Given the description of an element on the screen output the (x, y) to click on. 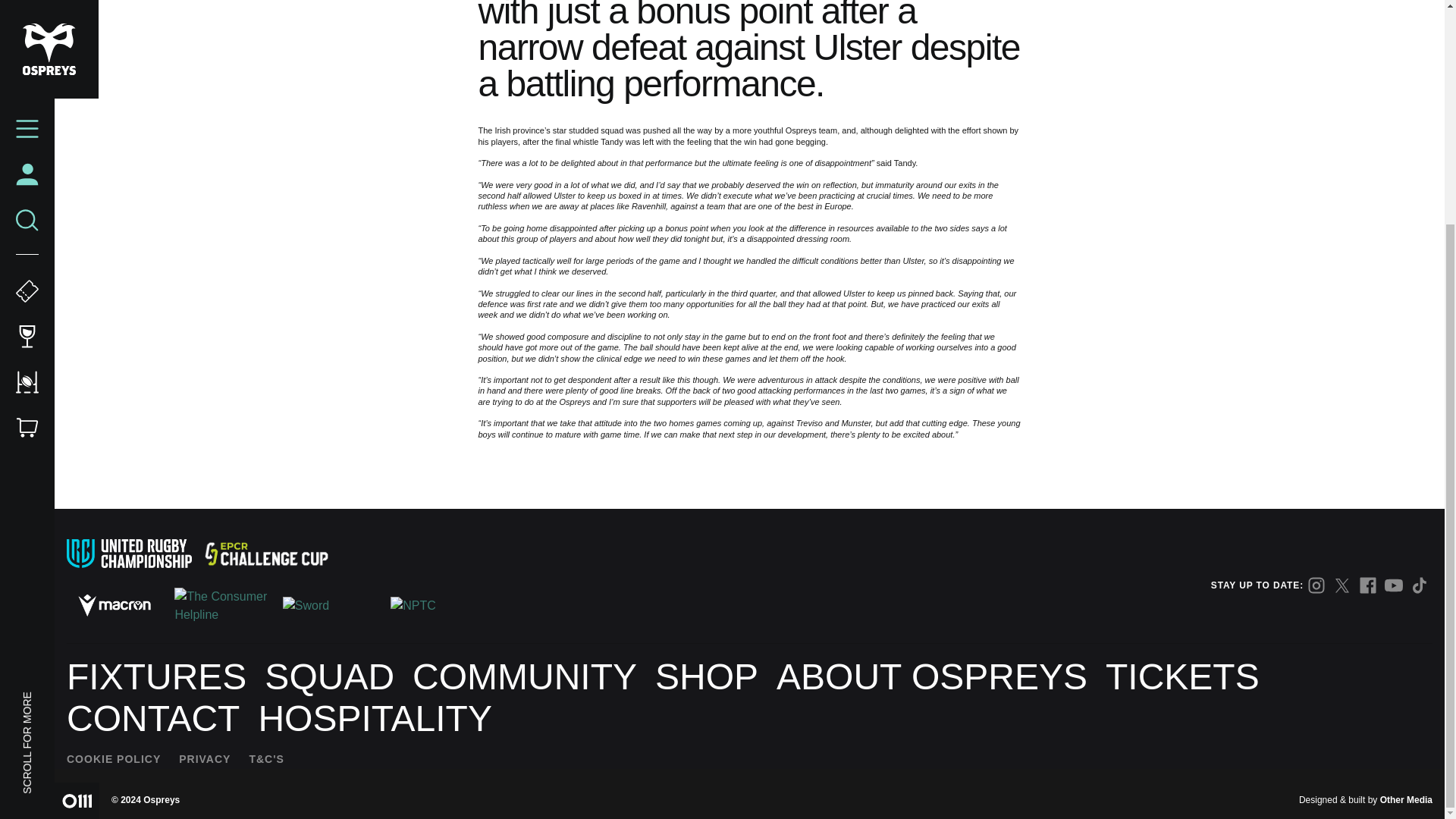
European Challenge Cup (266, 553)
The Consumer Helpline (221, 606)
Sword (330, 606)
Facebook (1367, 585)
NPTC (438, 606)
YouTube (1393, 585)
TikTok (1419, 585)
SCROLL FOR MORE (71, 400)
Instagram (1315, 585)
Macron (113, 605)
